Given the description of an element on the screen output the (x, y) to click on. 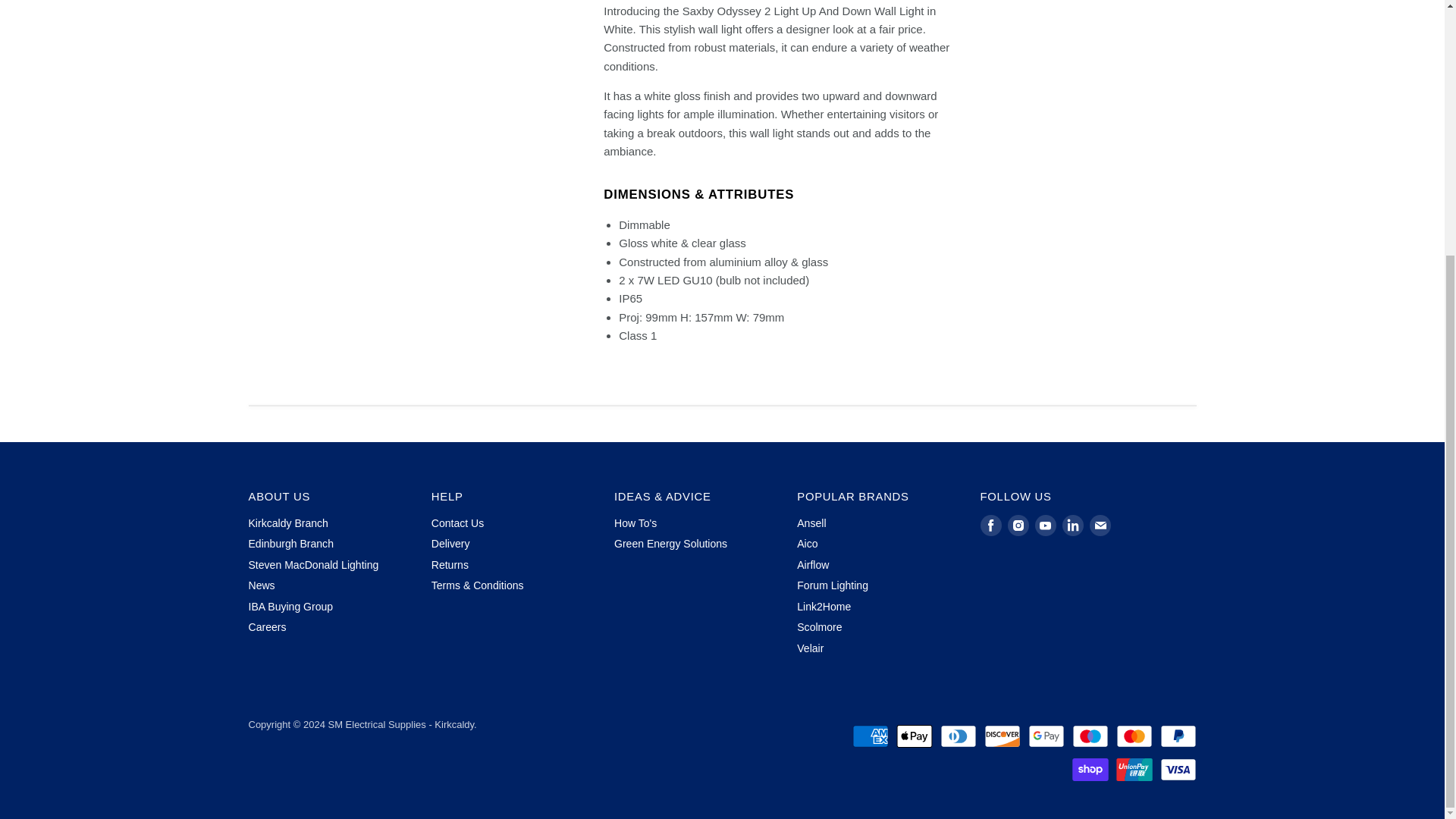
Email (1099, 525)
Facebook (990, 525)
LinkedIn (1072, 525)
Instagram (1017, 525)
Youtube (1044, 525)
